Given the description of an element on the screen output the (x, y) to click on. 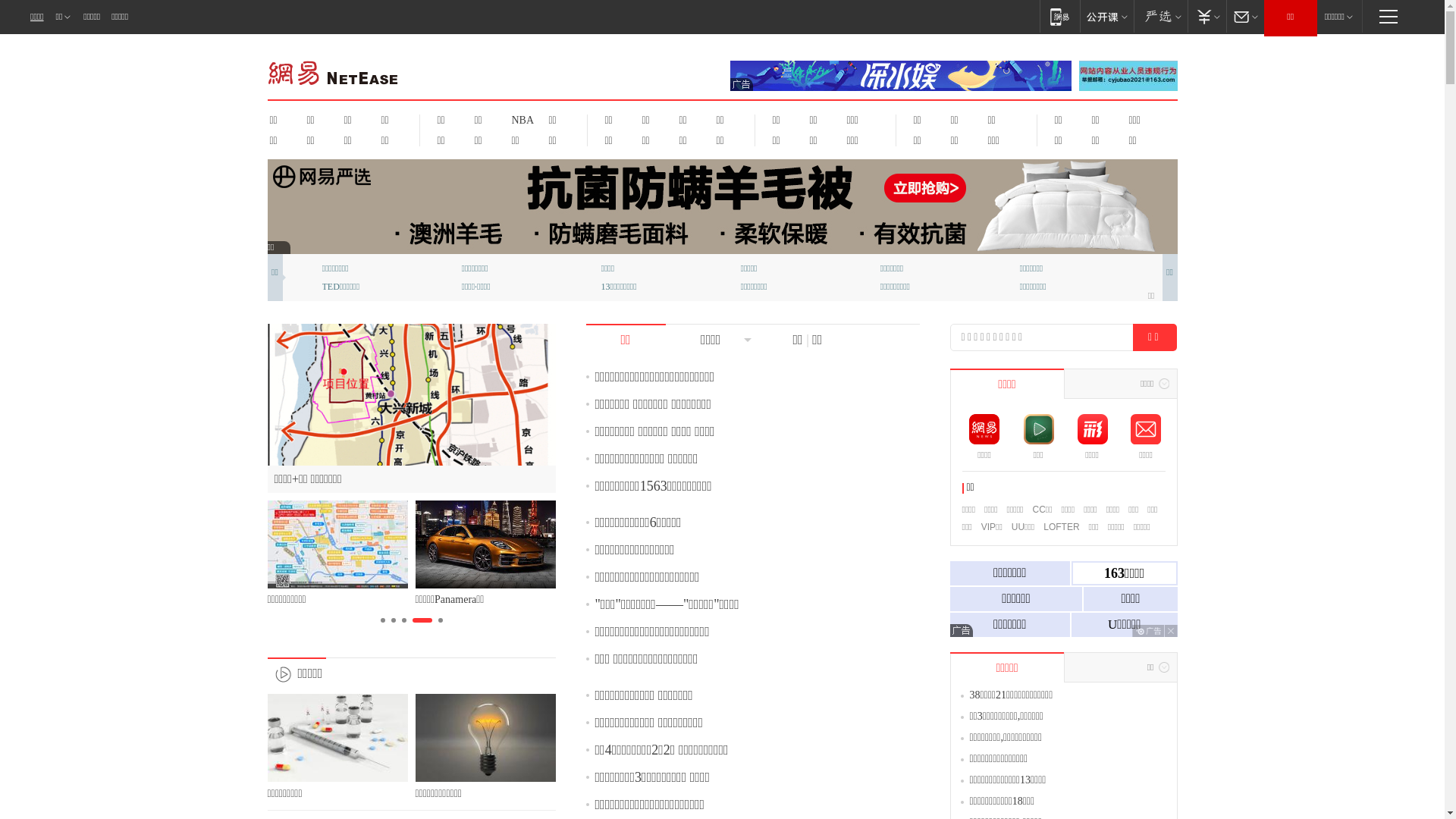
LOFTER Element type: text (1061, 526)
NBA Element type: text (520, 119)
